Given the description of an element on the screen output the (x, y) to click on. 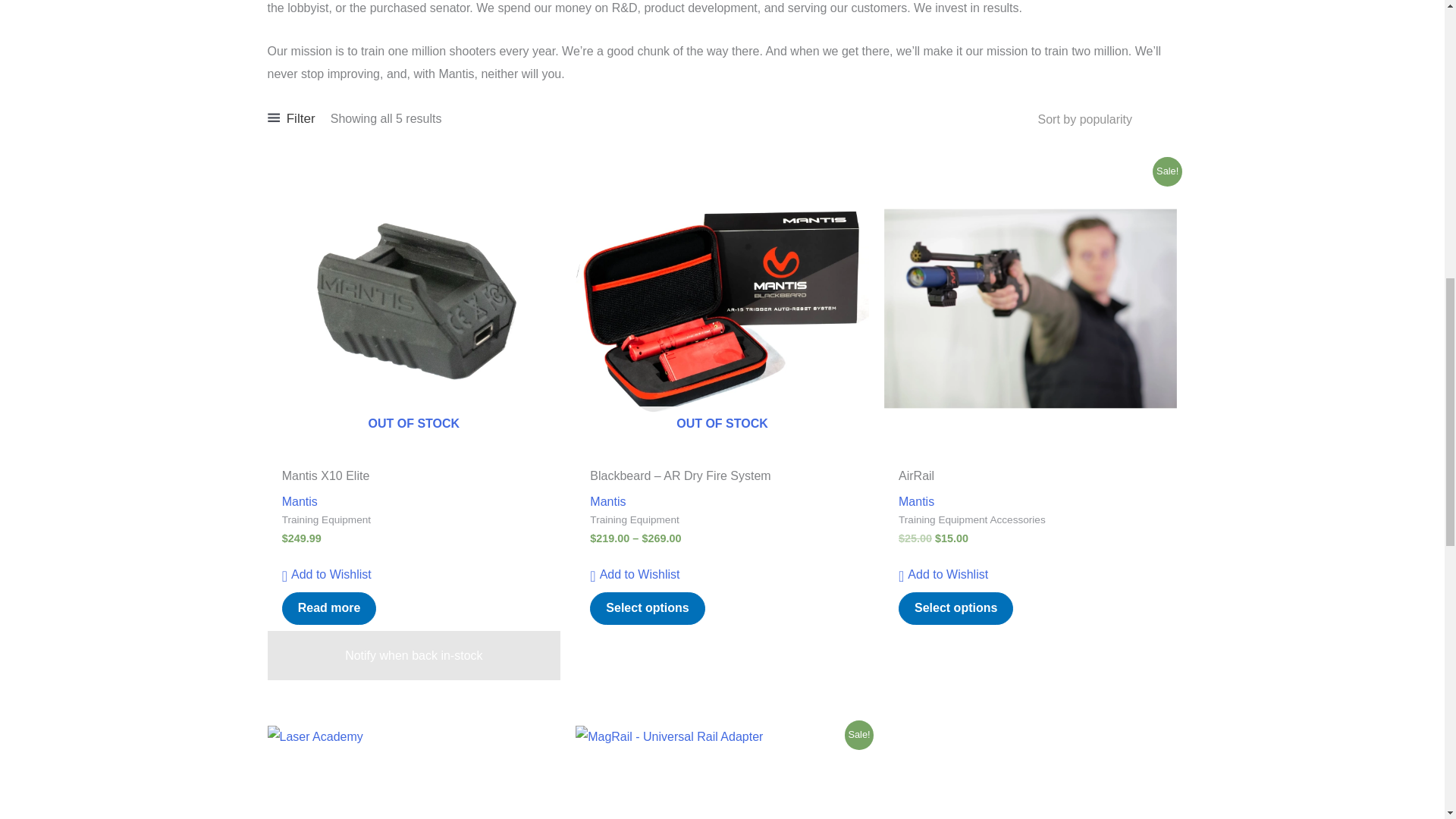
Mantis (607, 501)
Add to Wishlist (634, 574)
Mantis (299, 501)
Mantis X10 Elite (414, 479)
Filter (290, 119)
OUT OF STOCK (413, 308)
Select options (646, 608)
Notify when back in-stock (413, 655)
Notify when back in-stock (413, 655)
OUT OF STOCK (722, 308)
